Given the description of an element on the screen output the (x, y) to click on. 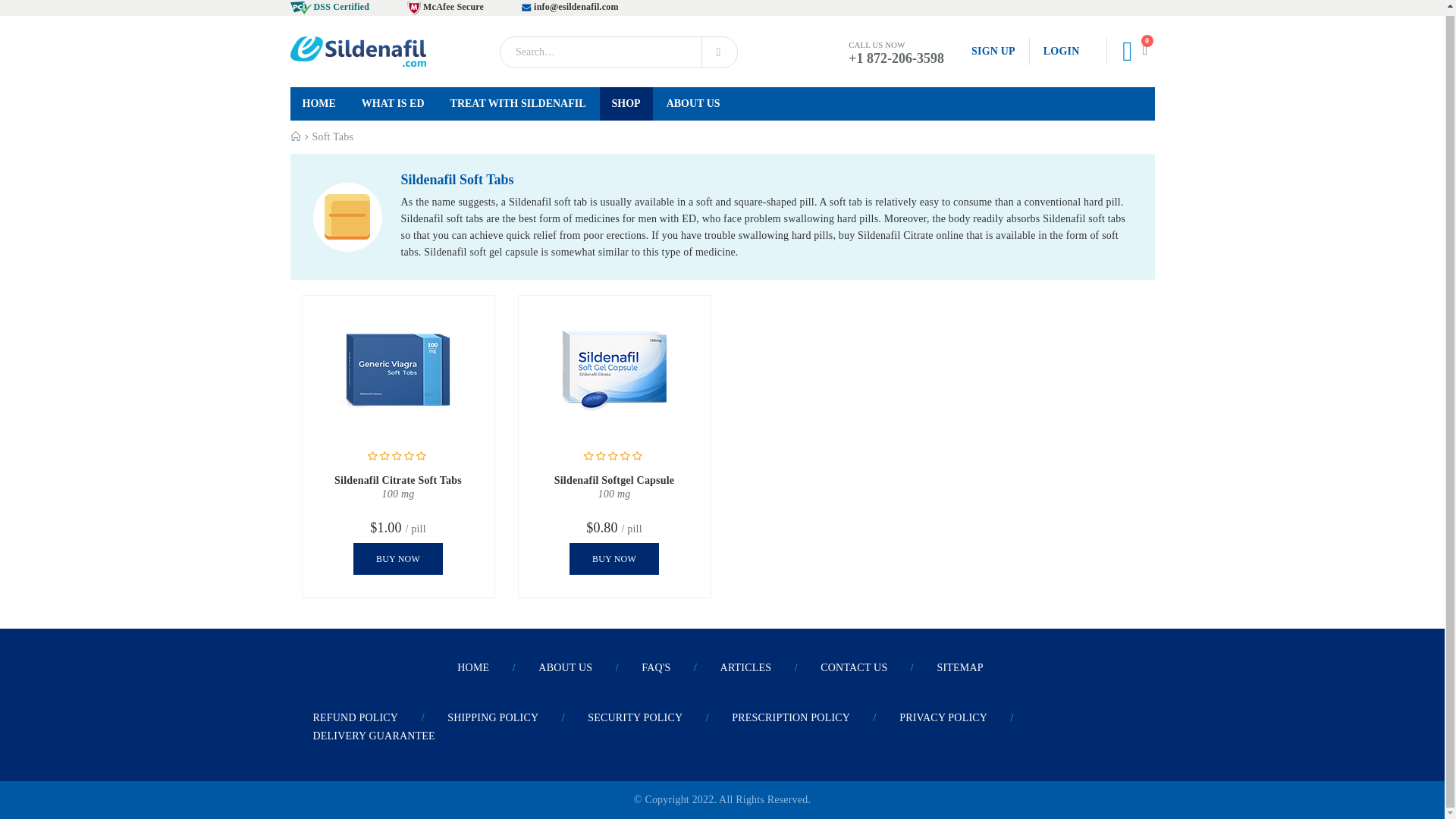
HOME (318, 103)
LOGIN (1054, 51)
DSS Certified (329, 6)
McAfee Secure (445, 6)
WHAT IS ED (392, 103)
SHOP (625, 103)
TREAT WITH SILDENAFIL (518, 103)
 -  (357, 51)
Search (718, 51)
SIGN UP (993, 51)
